Given the description of an element on the screen output the (x, y) to click on. 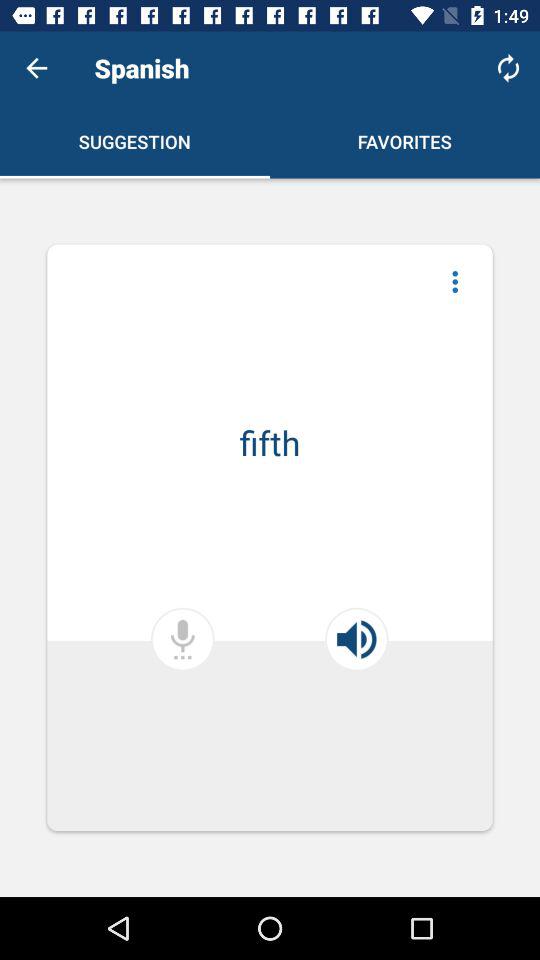
select three dots (455, 281)
